Given the description of an element on the screen output the (x, y) to click on. 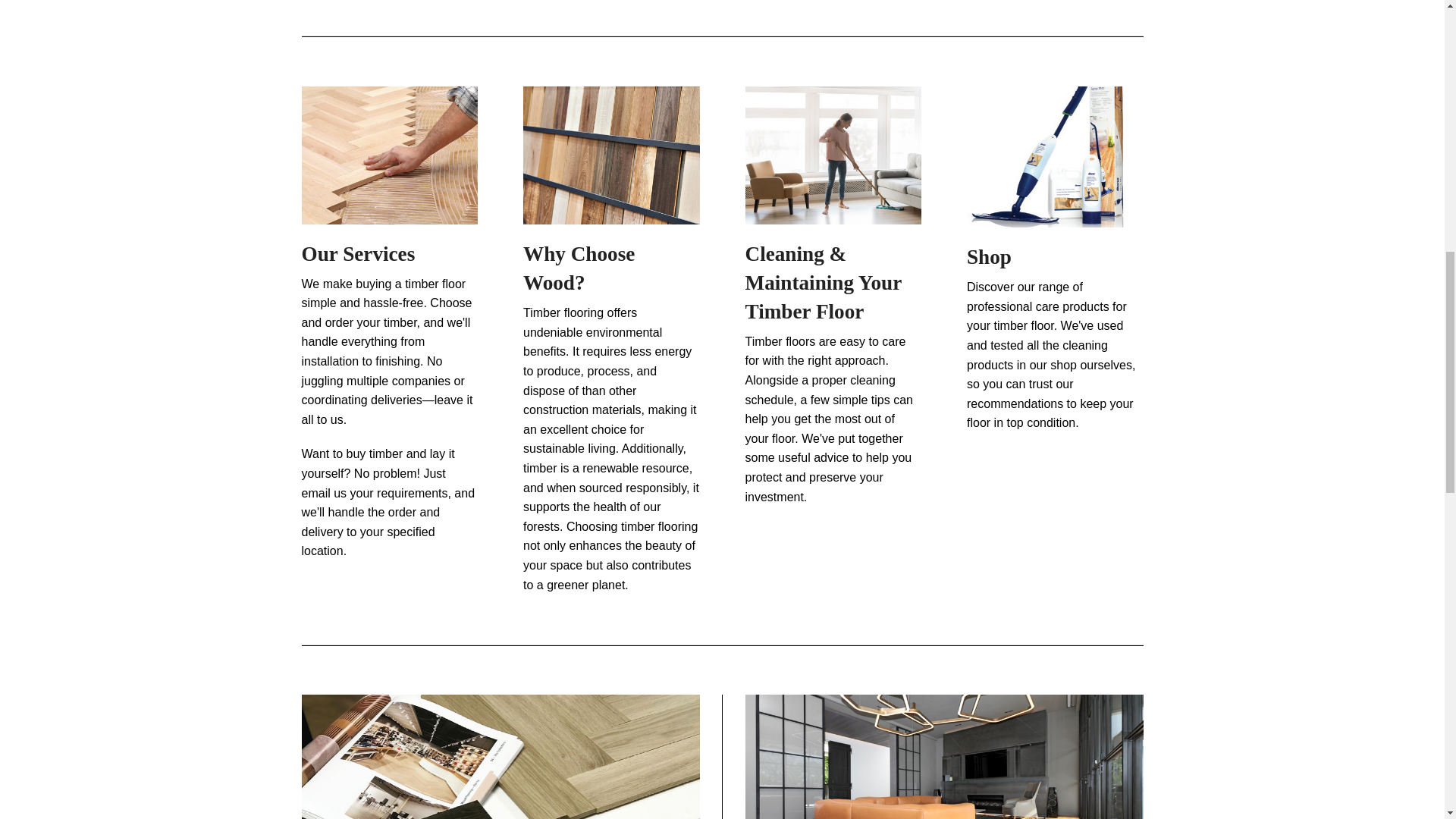
Our Services (390, 154)
Why Choose Wood (611, 154)
Projects (943, 801)
Wood Types (500, 801)
Shop (1054, 155)
